Given the description of an element on the screen output the (x, y) to click on. 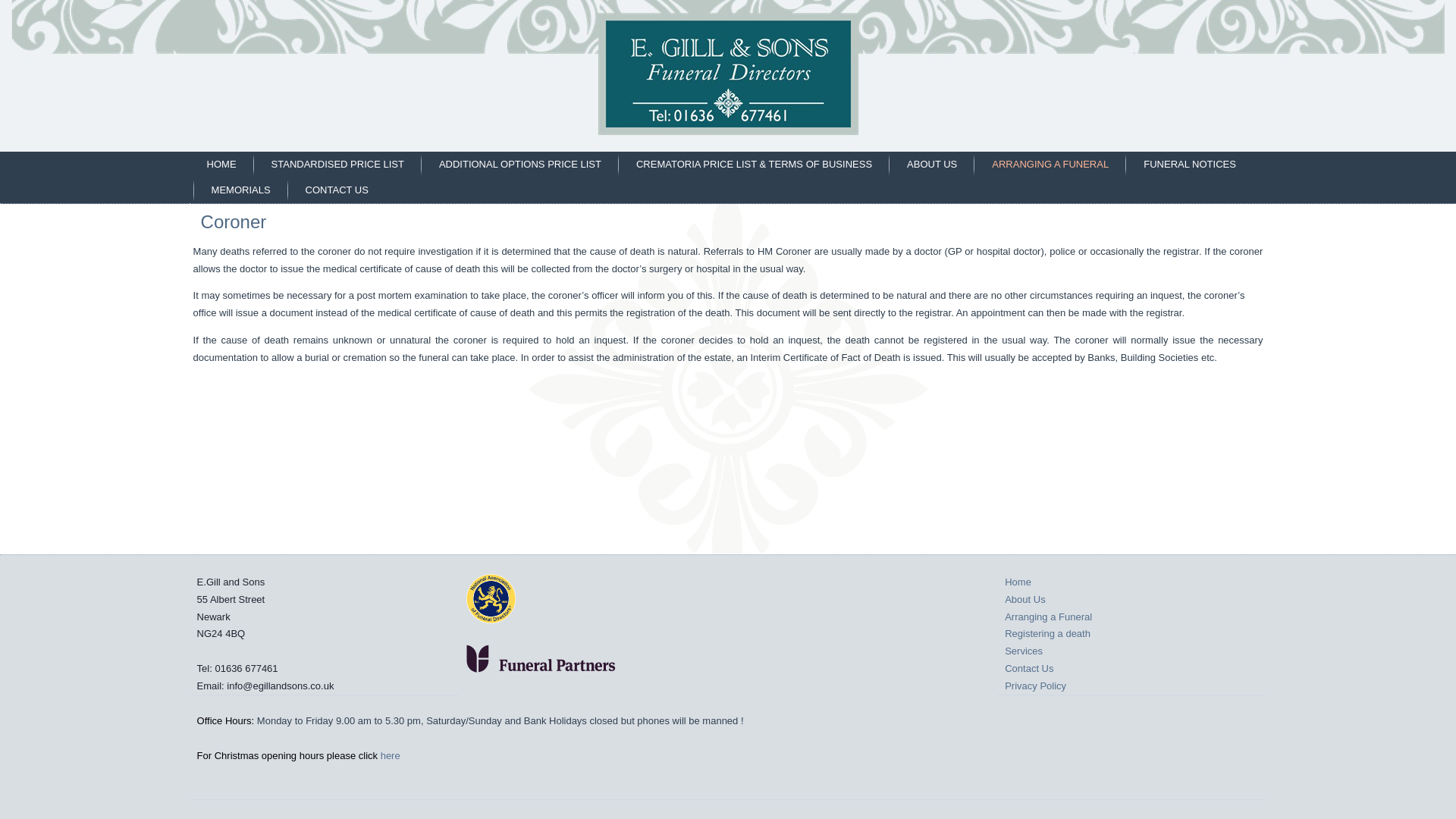
HOME (220, 164)
here (390, 754)
STANDARDISED PRICE LIST (337, 164)
Home (1017, 582)
ABOUT US (931, 164)
Privacy Policy (1034, 685)
Contact Us (1028, 668)
Arranging a Funeral (1048, 616)
Registering a death (1047, 633)
Services (1023, 650)
CONTACT US (336, 190)
About Us (1024, 599)
MEMORIALS (240, 190)
FUNERAL NOTICES (1190, 164)
ADDITIONAL OPTIONS PRICE LIST (520, 164)
